Given the description of an element on the screen output the (x, y) to click on. 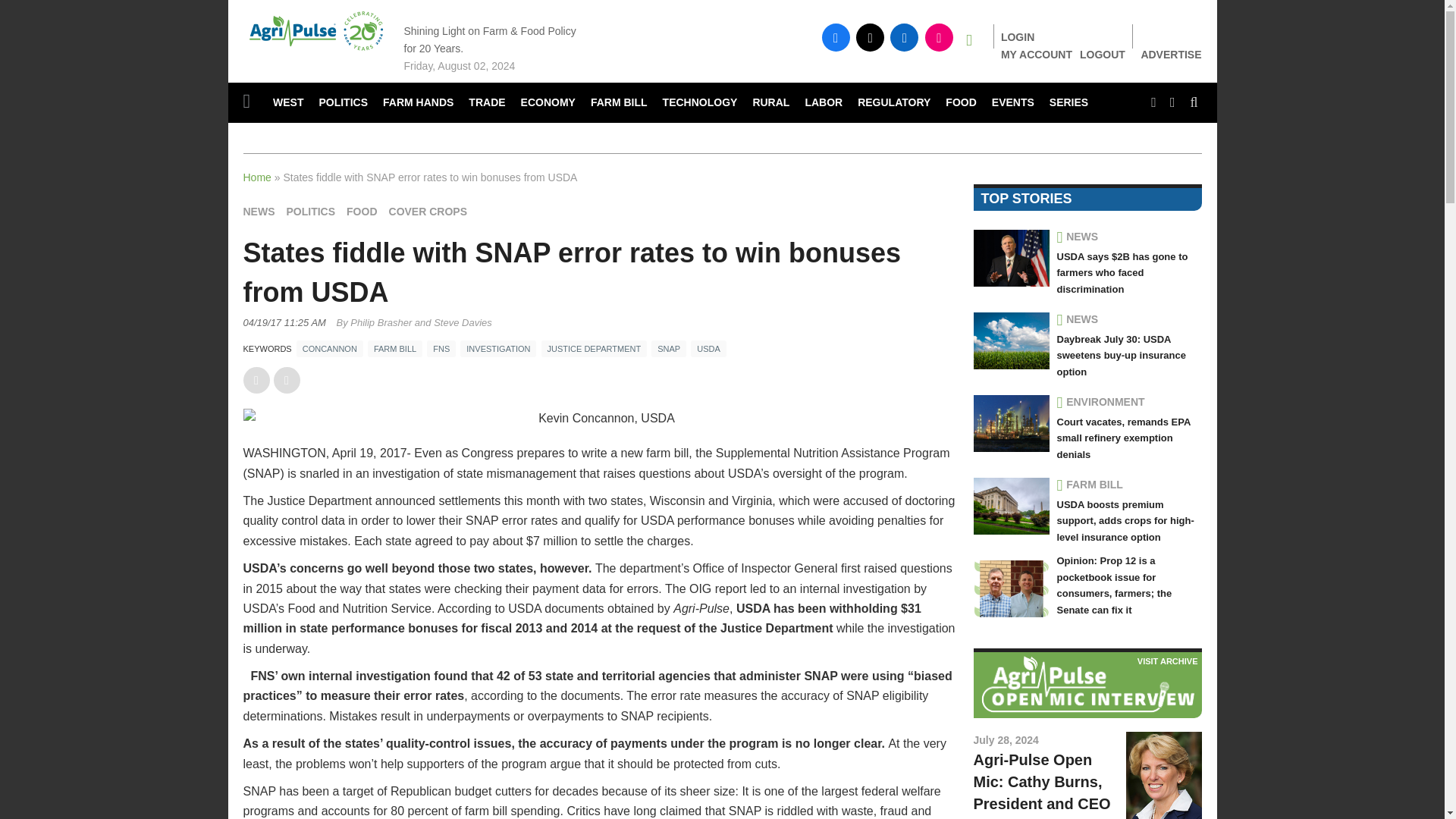
LOGOUT (1102, 54)
RURAL (770, 102)
TECHNOLOGY (700, 102)
FARM HANDS (418, 102)
MY ACCOUNT (1036, 54)
ADVERTISE (1170, 54)
TRADE (486, 102)
WEST (287, 102)
POLITICS (343, 102)
ECONOMY (548, 102)
